Given the description of an element on the screen output the (x, y) to click on. 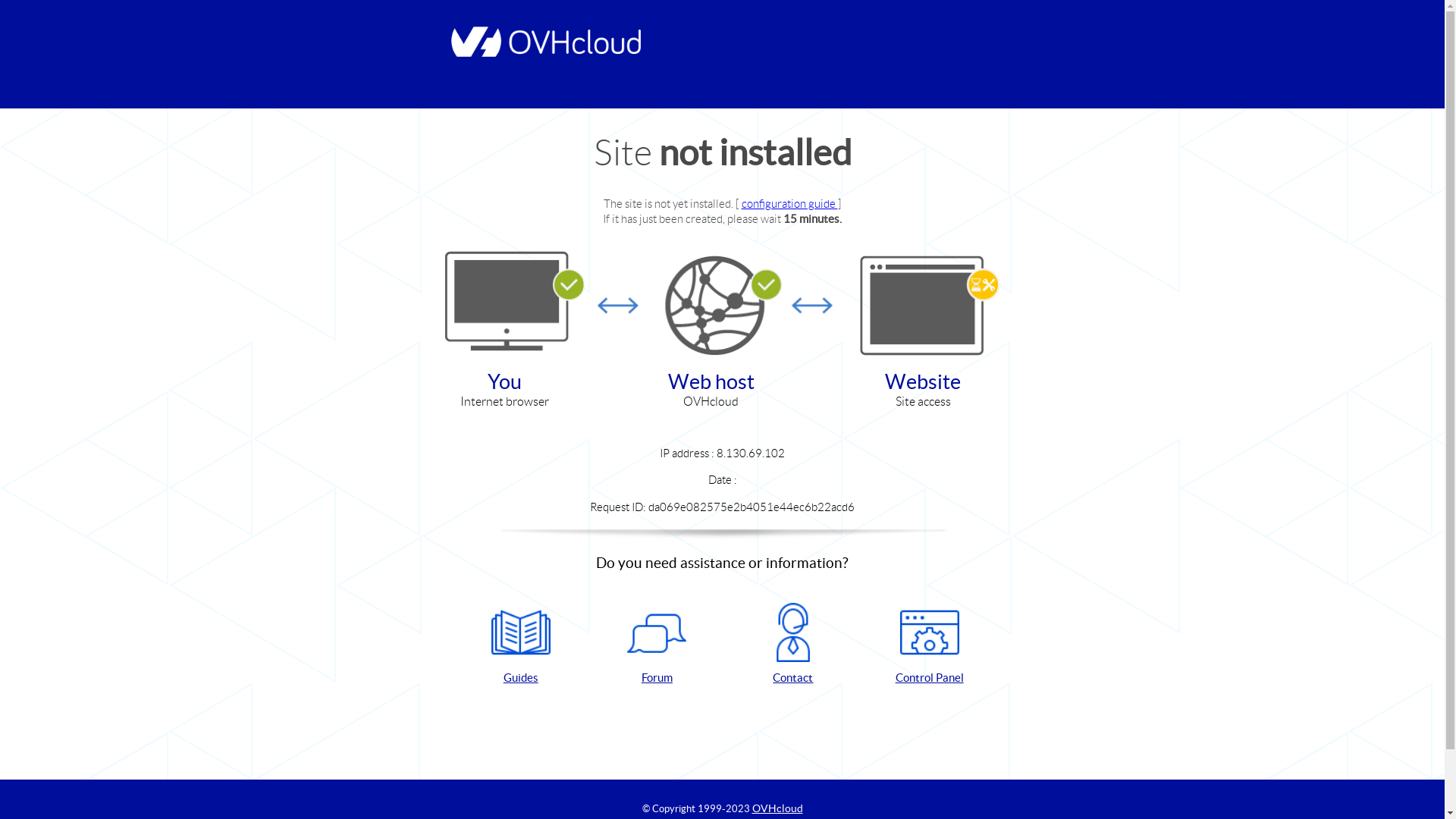
Guides Element type: text (520, 644)
Contact Element type: text (792, 644)
Forum Element type: text (656, 644)
OVHcloud Element type: text (777, 808)
Control Panel Element type: text (929, 644)
configuration guide Element type: text (789, 203)
